Given the description of an element on the screen output the (x, y) to click on. 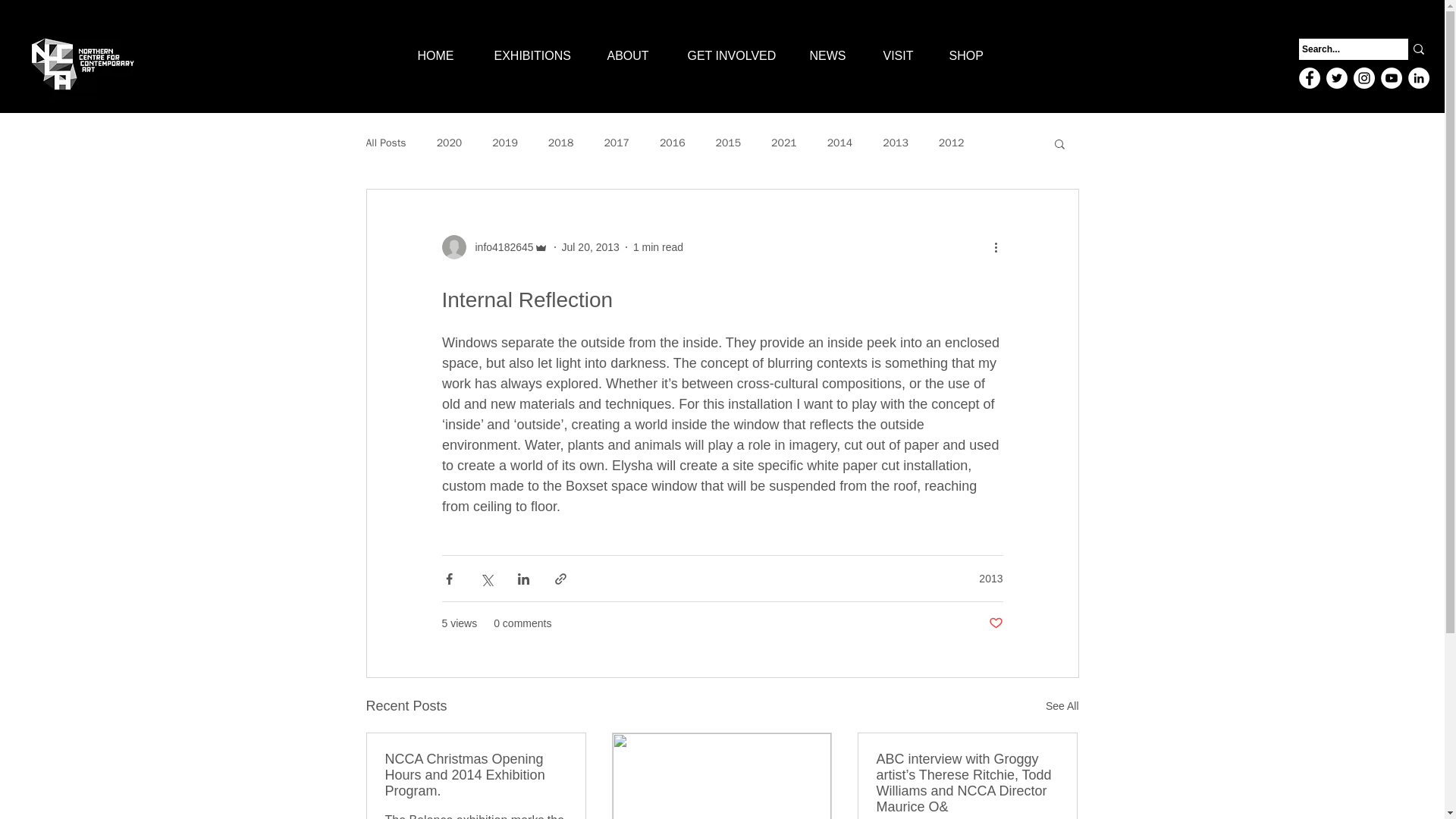
2017 (616, 142)
2013 (895, 142)
ABOUT (638, 55)
NEWS (837, 55)
Jul 20, 2013 (591, 246)
2014 (840, 142)
VISIT (907, 55)
1 min read (657, 246)
2021 (783, 142)
All Posts (385, 142)
SHOP (975, 55)
HOME (446, 55)
2015 (728, 142)
2018 (560, 142)
2019 (505, 142)
